Given the description of an element on the screen output the (x, y) to click on. 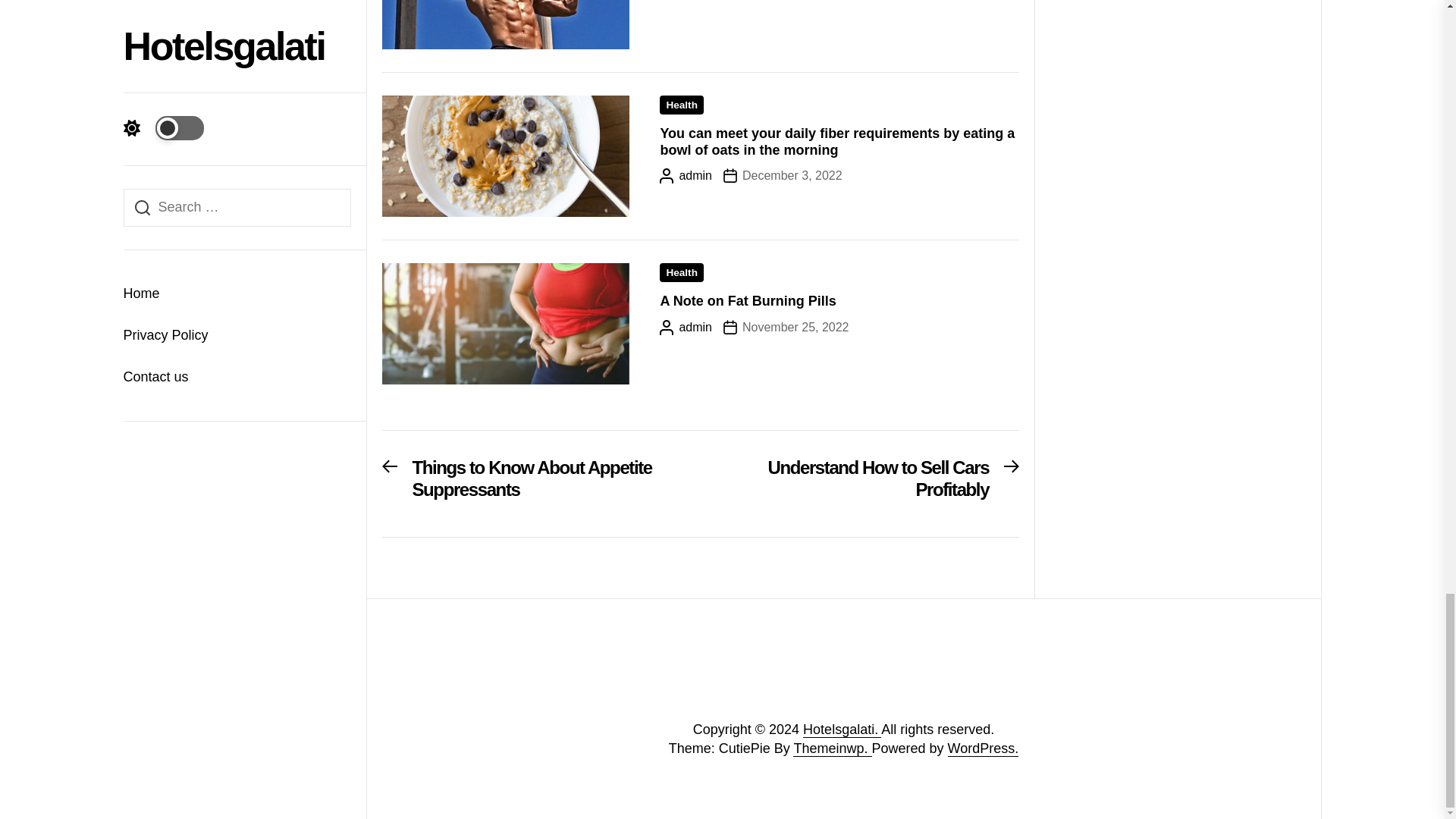
Hotelsgalati (841, 729)
Themeinwp (831, 748)
admin (685, 0)
admin (685, 175)
WordPress (983, 748)
Health (681, 104)
December 3, 2022 (783, 175)
Health (681, 271)
